Given the description of an element on the screen output the (x, y) to click on. 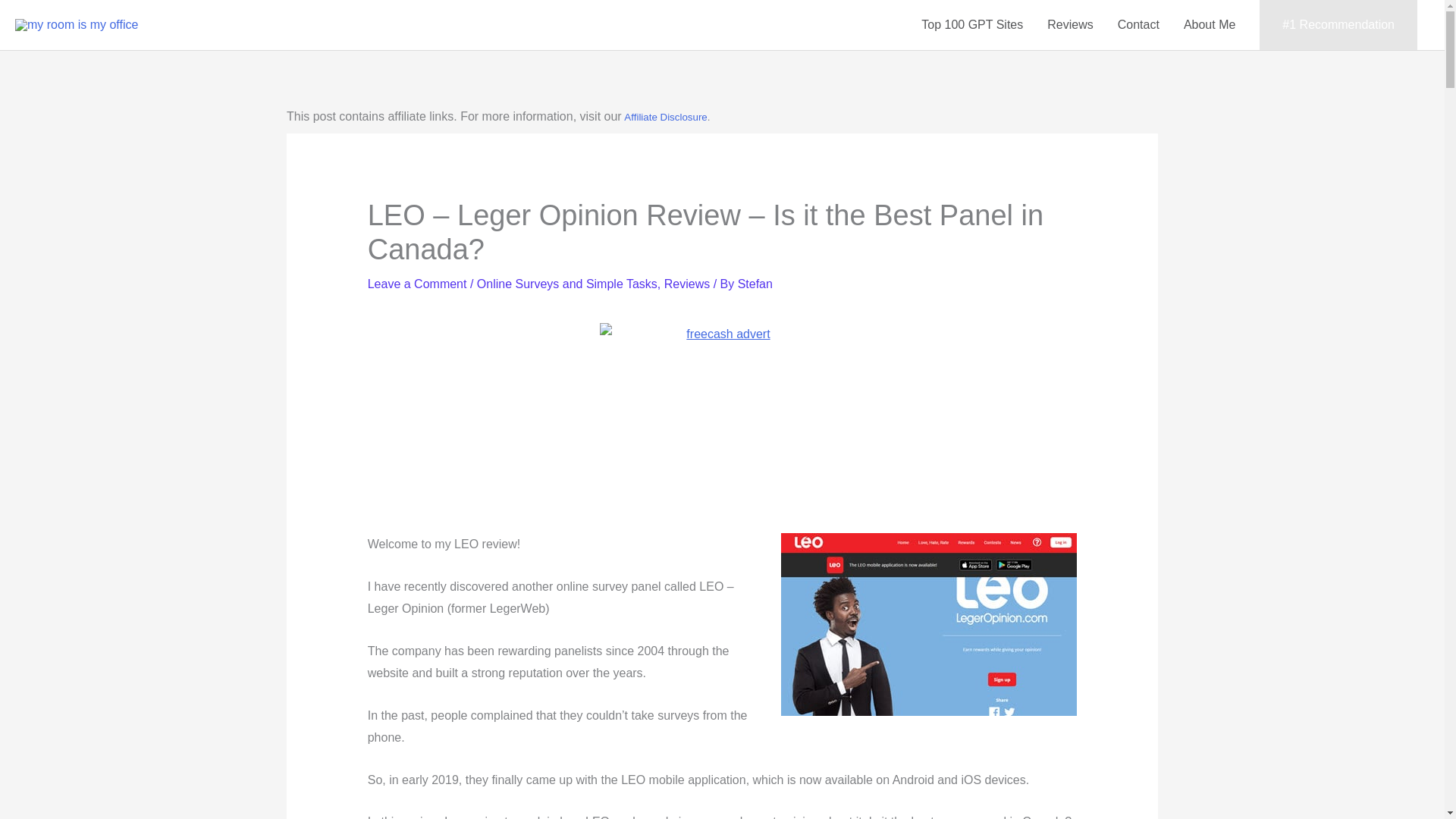
Reviews (686, 283)
Stefan (755, 283)
Affiliate Disclosure (665, 116)
Reviews (1070, 24)
About Me (1209, 24)
Contact (1138, 24)
Leave a Comment (417, 283)
Top 100 GPT Sites (971, 24)
View all posts by Stefan (755, 283)
Online Surveys and Simple Tasks (567, 283)
